Given the description of an element on the screen output the (x, y) to click on. 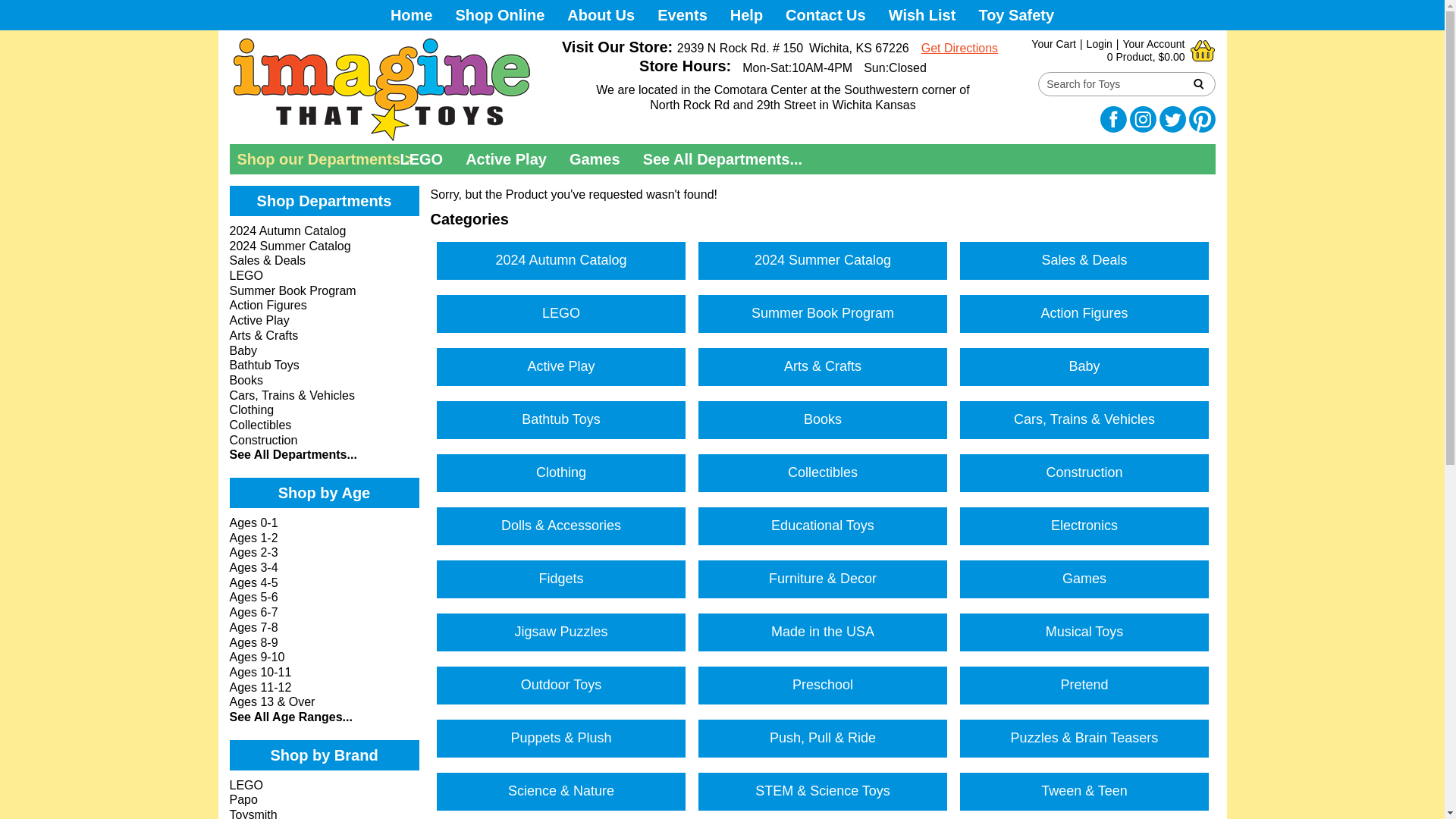
LEGO (421, 159)
2024 Summer Catalog (822, 260)
LEGO (560, 313)
2024 Autumn Catalog (560, 260)
Get Directions (959, 47)
Baby (1083, 366)
Games (594, 159)
Please use only A-Z, 0-9, and spaces in your search. (1112, 83)
Active Play (505, 159)
Events (682, 15)
